Given the description of an element on the screen output the (x, y) to click on. 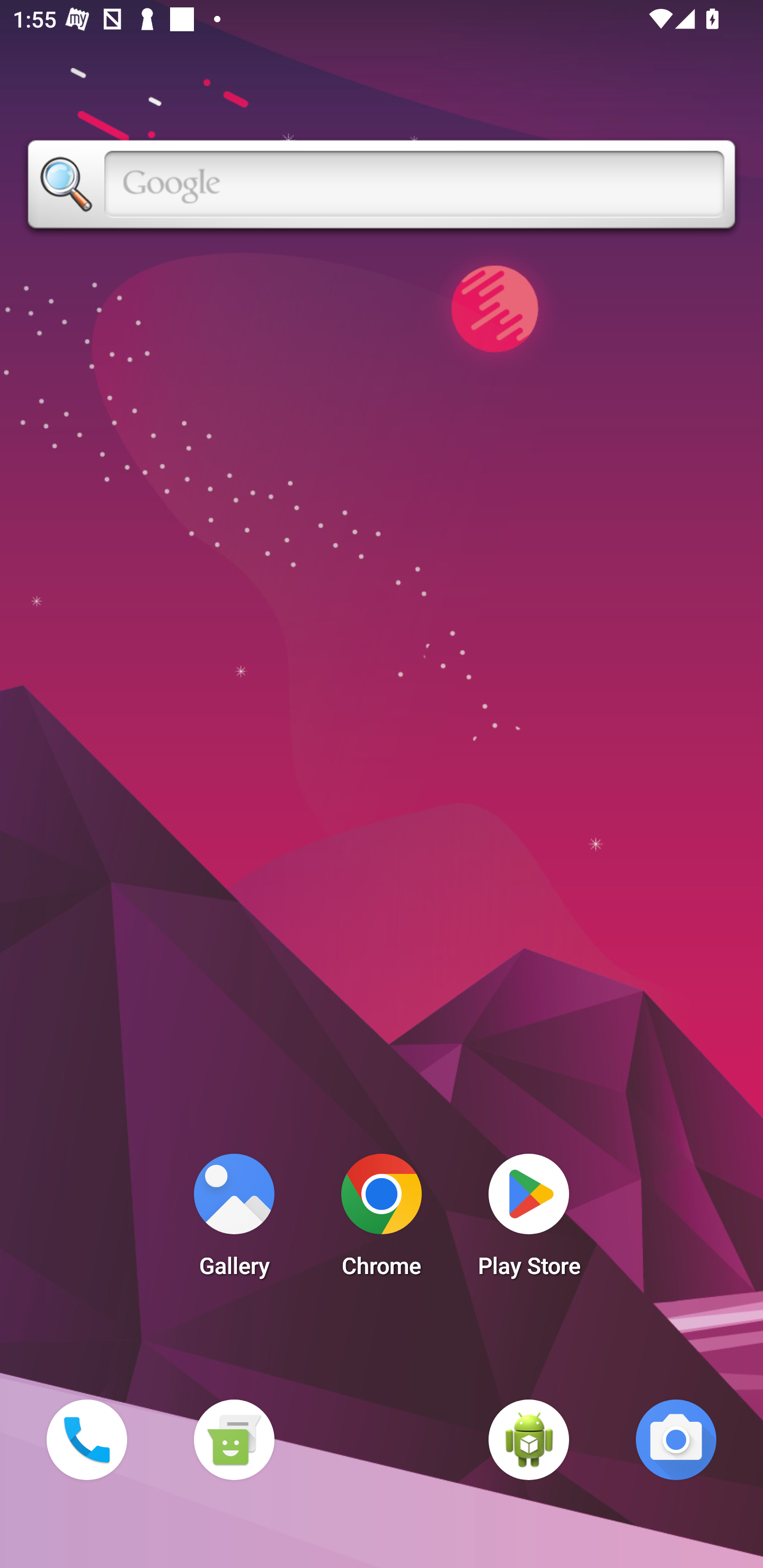
Gallery (233, 1220)
Chrome (381, 1220)
Play Store (528, 1220)
Phone (86, 1439)
Messaging (233, 1439)
WebView Browser Tester (528, 1439)
Camera (676, 1439)
